Given the description of an element on the screen output the (x, y) to click on. 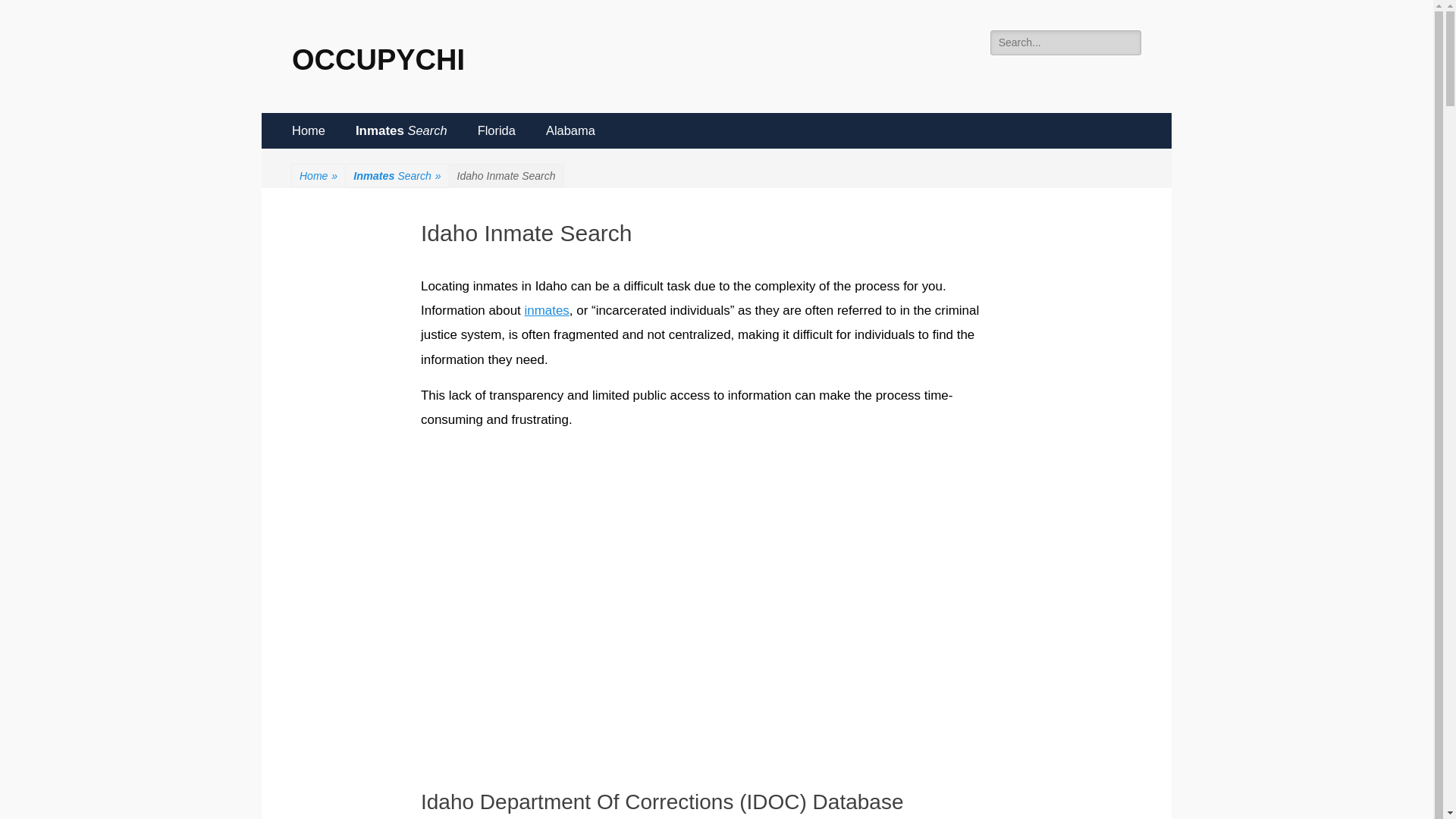
Home (308, 130)
OCCUPYCHI (378, 60)
Search for: (1065, 42)
Alabama (570, 130)
inmates (546, 310)
Florida (497, 130)
Search (33, 13)
Inmates Search (401, 130)
